Given the description of an element on the screen output the (x, y) to click on. 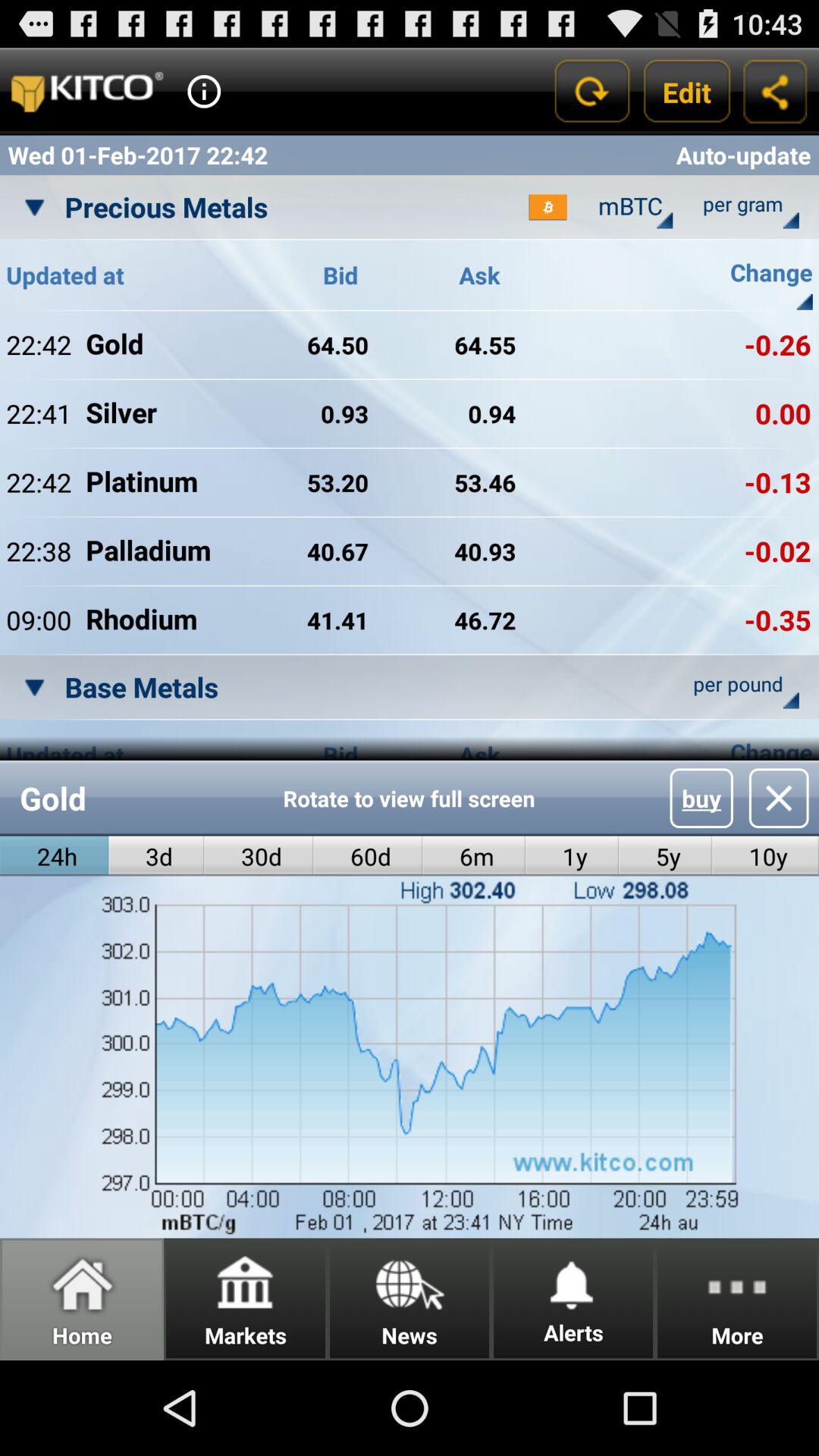
open the 10y icon (765, 856)
